Given the description of an element on the screen output the (x, y) to click on. 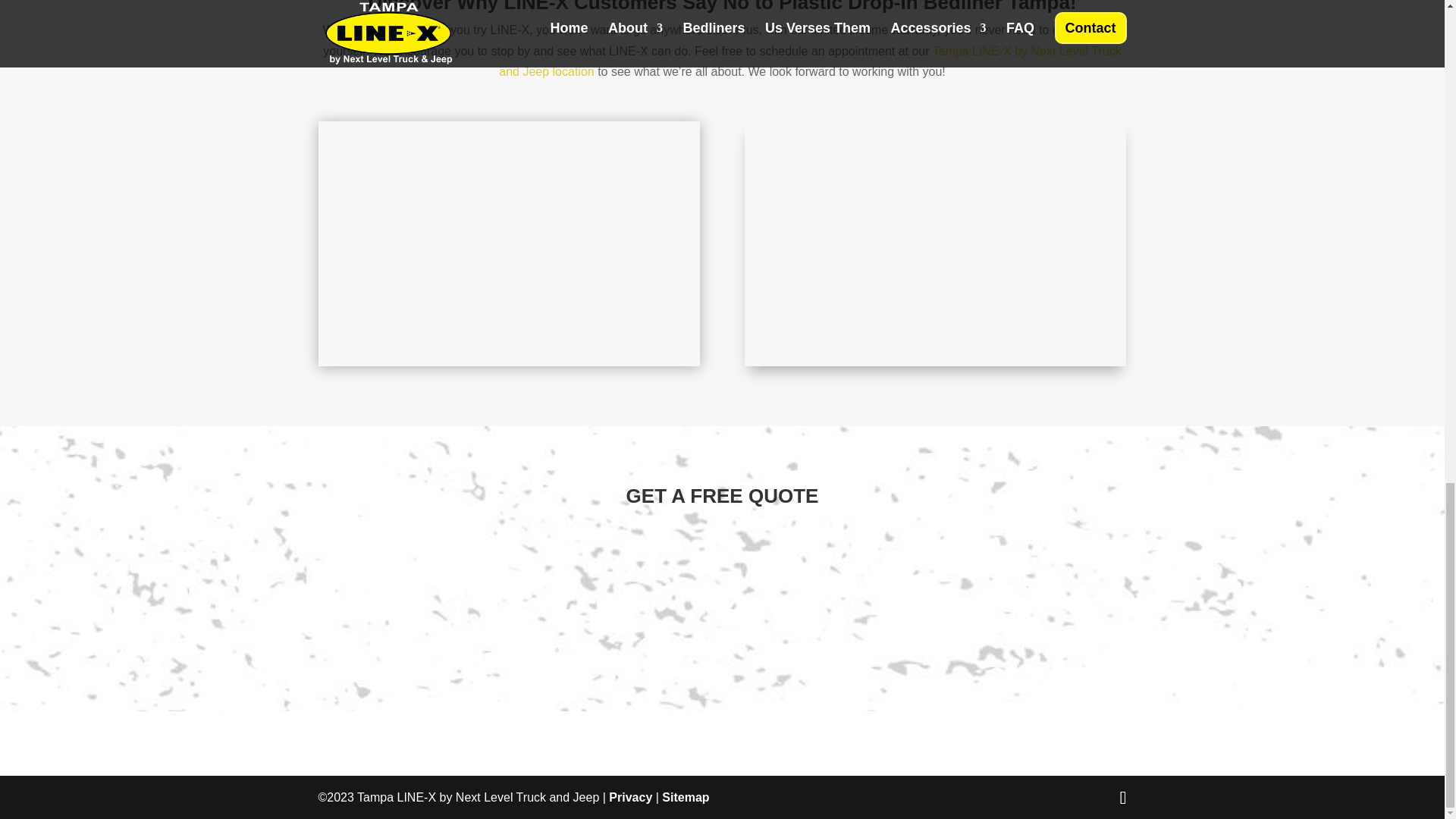
YouTube video player (509, 240)
YouTube video player (935, 240)
